Given the description of an element on the screen output the (x, y) to click on. 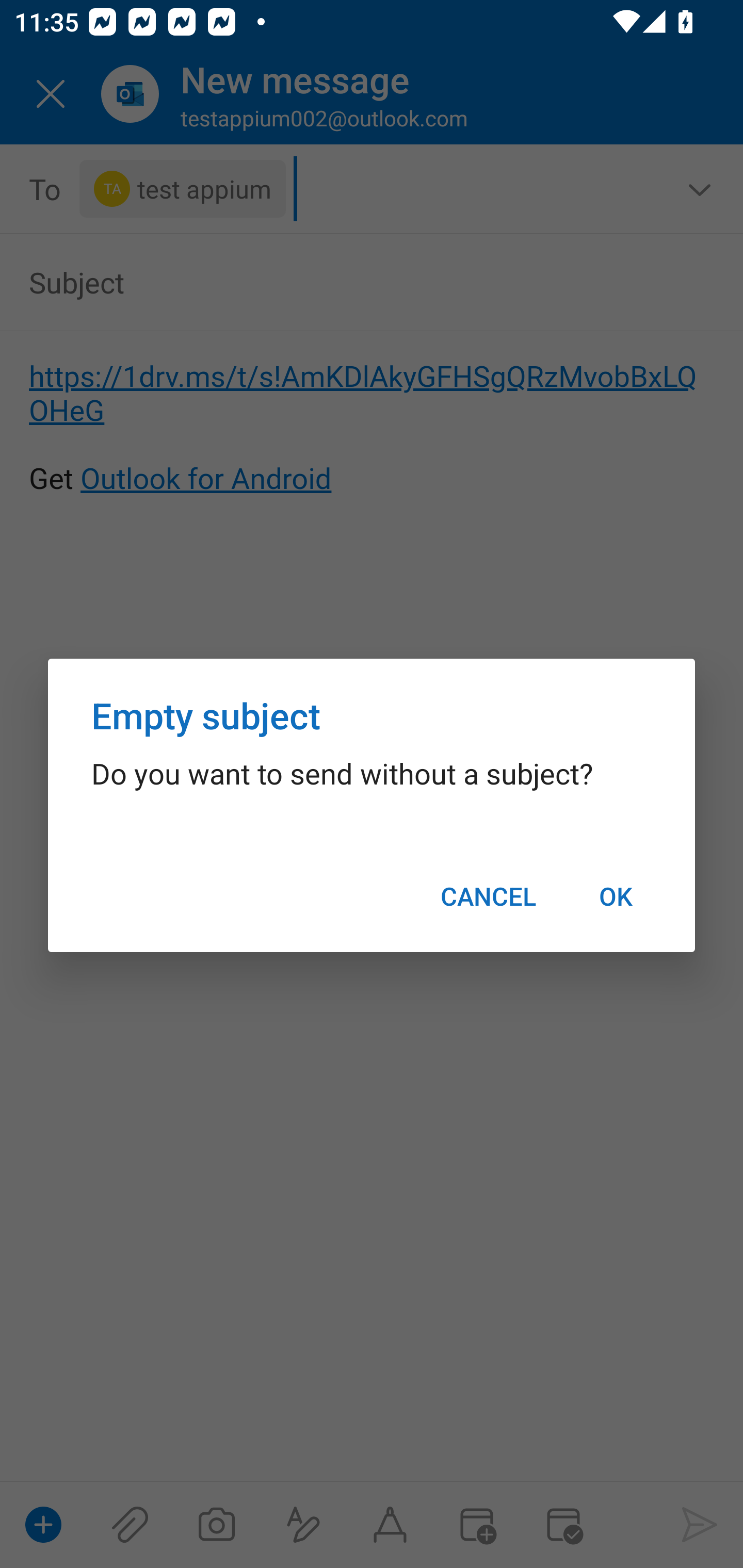
CANCEL (488, 895)
OK (615, 895)
